Given the description of an element on the screen output the (x, y) to click on. 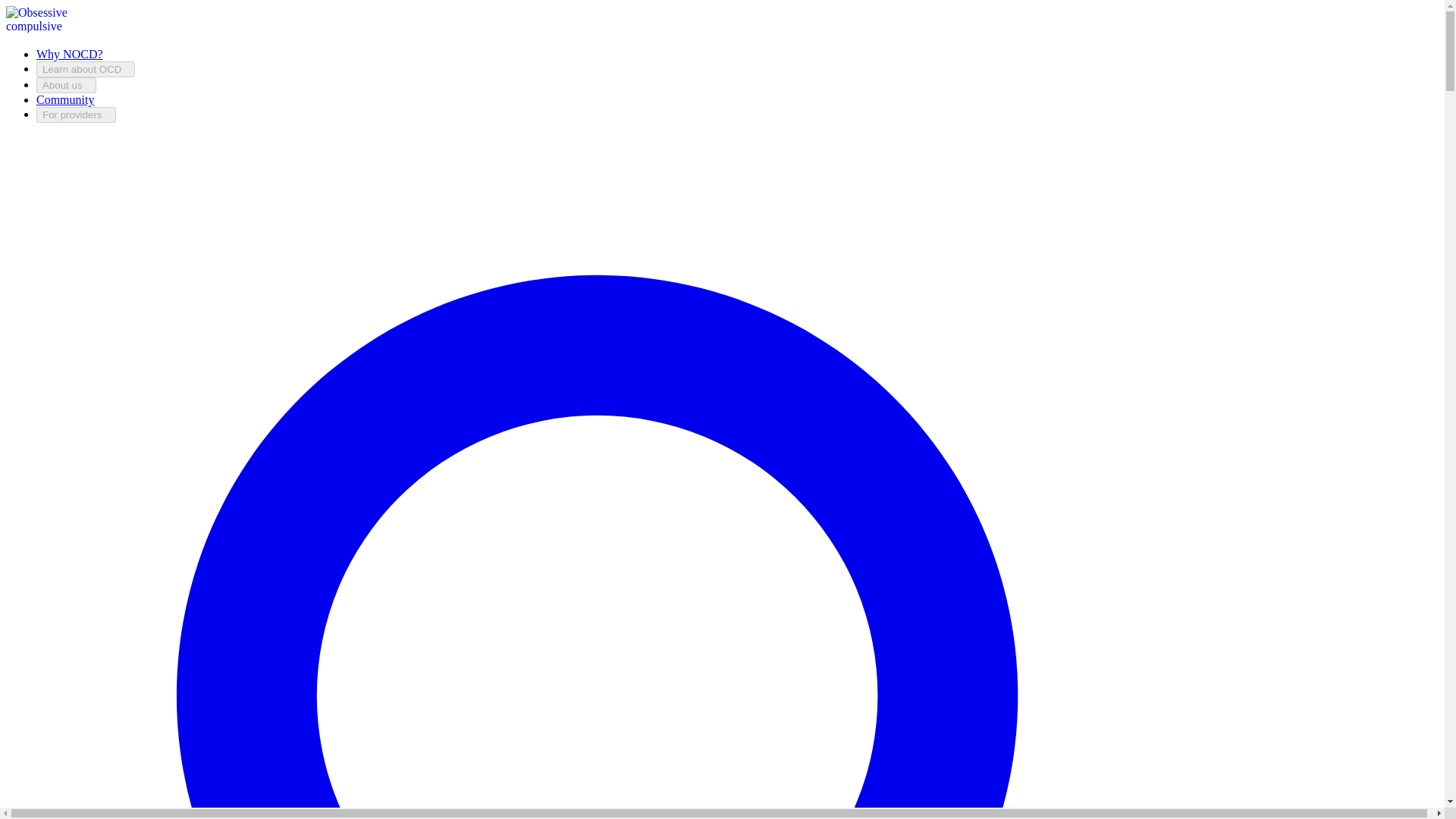
Community (65, 99)
For providers (76, 114)
About us (66, 84)
Why NOCD? (69, 53)
Learn about OCD (85, 68)
